Given the description of an element on the screen output the (x, y) to click on. 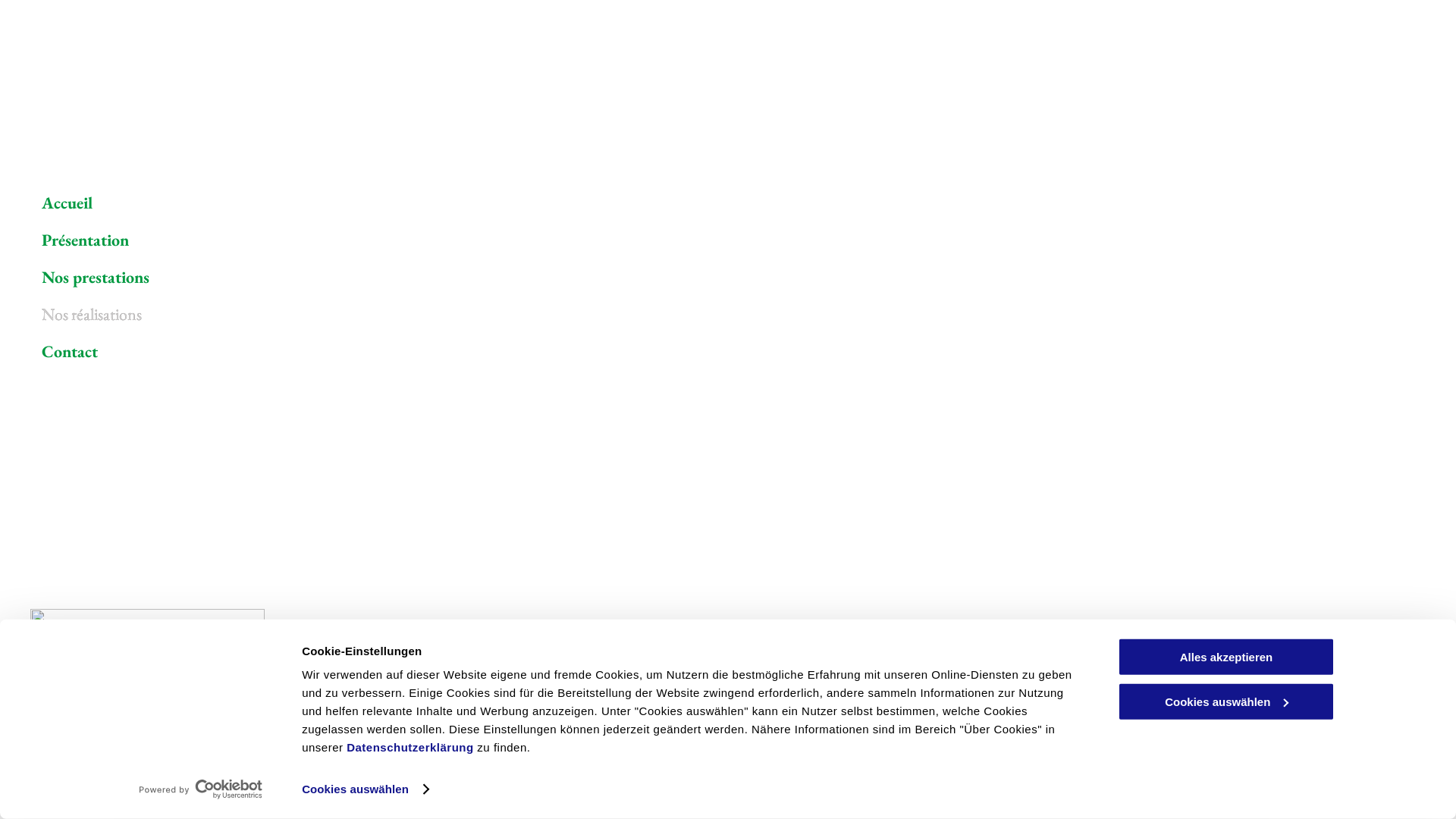
Nos prestations Element type: text (386, 276)
Contact Element type: text (386, 351)
Alles akzeptieren Element type: text (1225, 656)
Accueil Element type: text (386, 202)
